Given the description of an element on the screen output the (x, y) to click on. 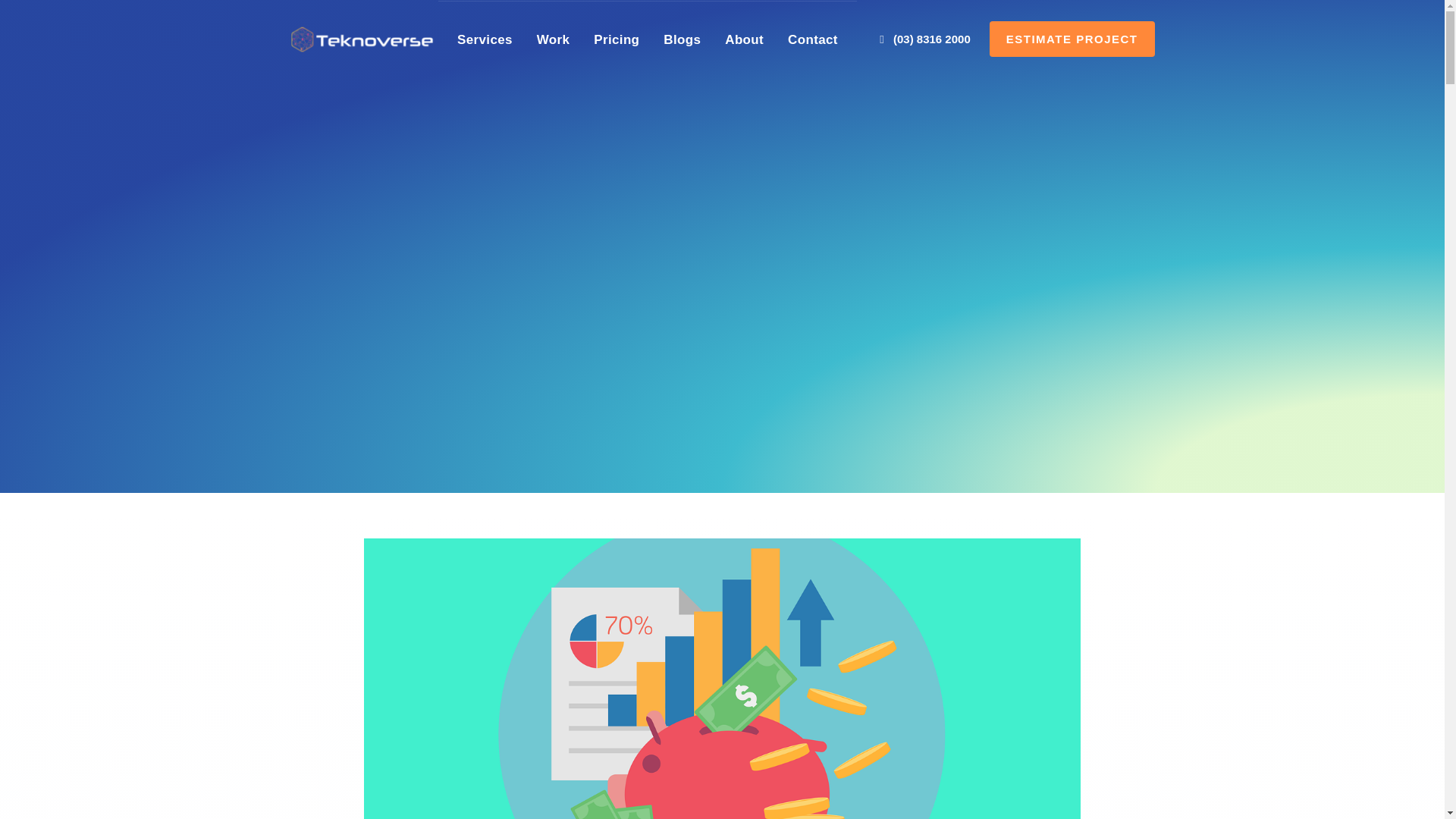
Contact (813, 39)
Pricing (615, 39)
Estimate Project (1072, 38)
Our Work (615, 39)
Contact Us (813, 39)
ESTIMATE PROJECT (1072, 38)
Services (484, 39)
